Given the description of an element on the screen output the (x, y) to click on. 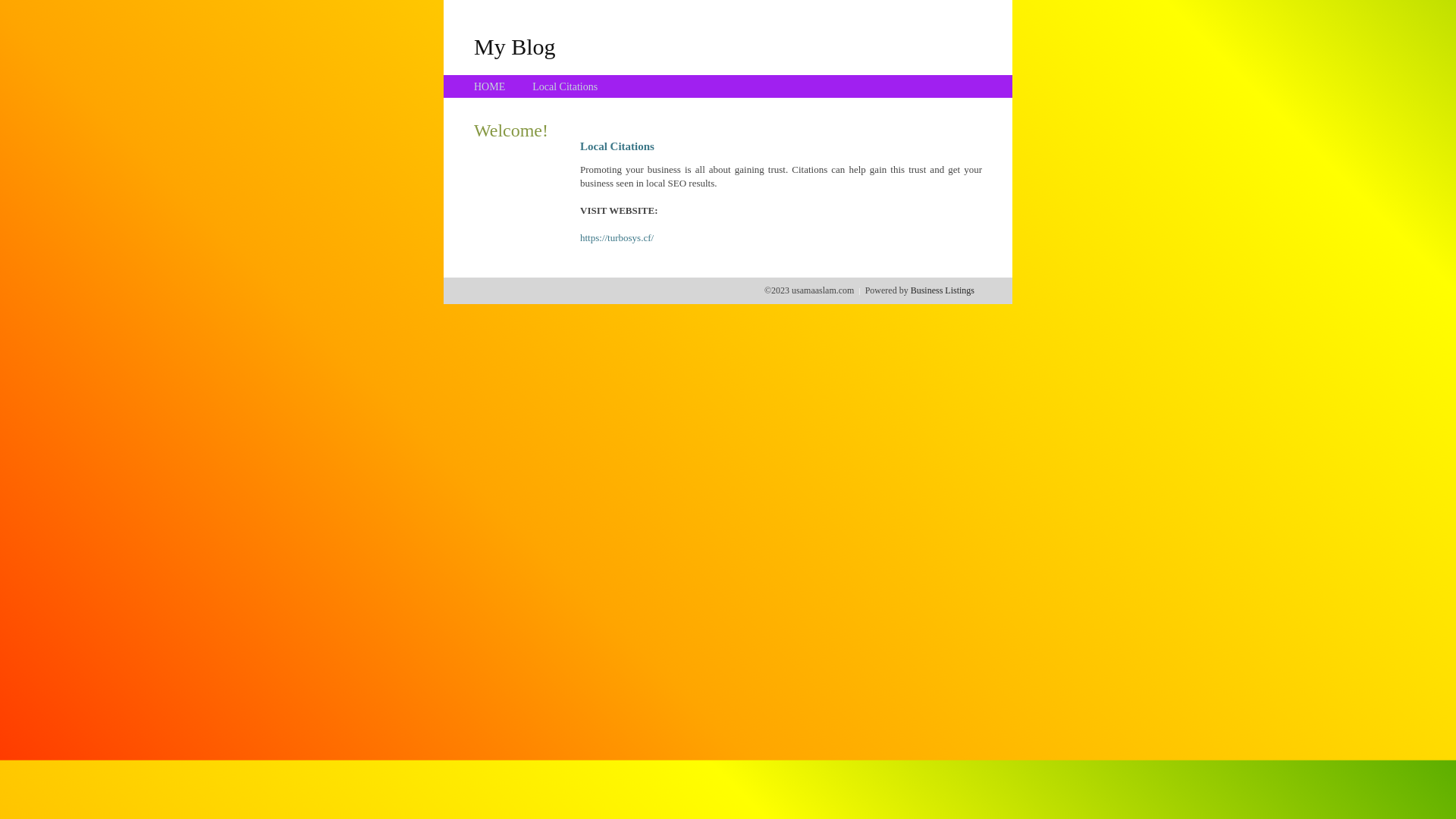
Local Citations Element type: text (564, 86)
HOME Element type: text (489, 86)
https://turbosys.cf/ Element type: text (616, 237)
My Blog Element type: text (514, 46)
Business Listings Element type: text (942, 290)
